Given the description of an element on the screen output the (x, y) to click on. 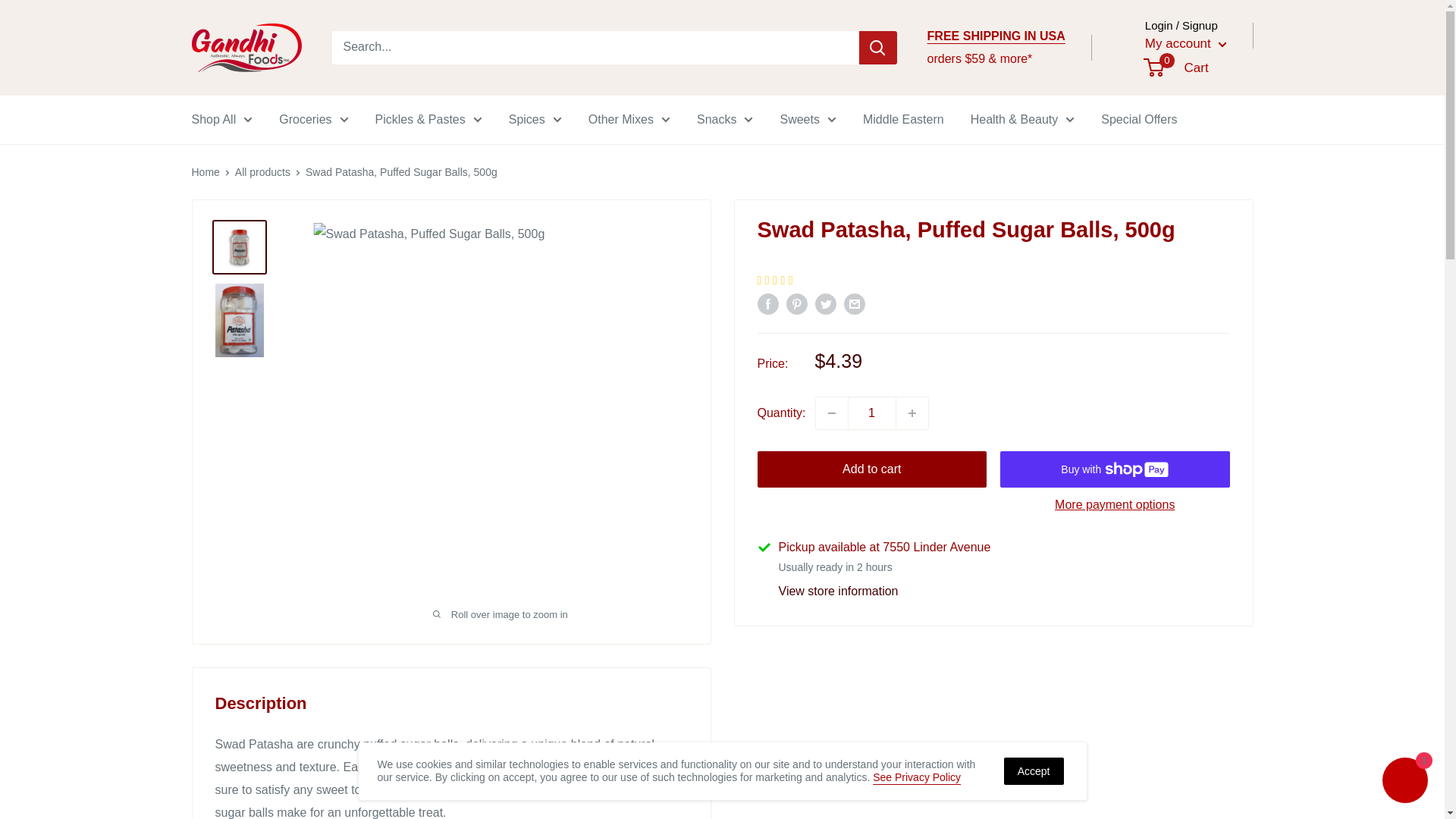
1 (871, 413)
Shopify online store chat (1404, 781)
Privacy Policy (916, 776)
Increase quantity by 1 (912, 413)
Decrease quantity by 1 (831, 413)
